Given the description of an element on the screen output the (x, y) to click on. 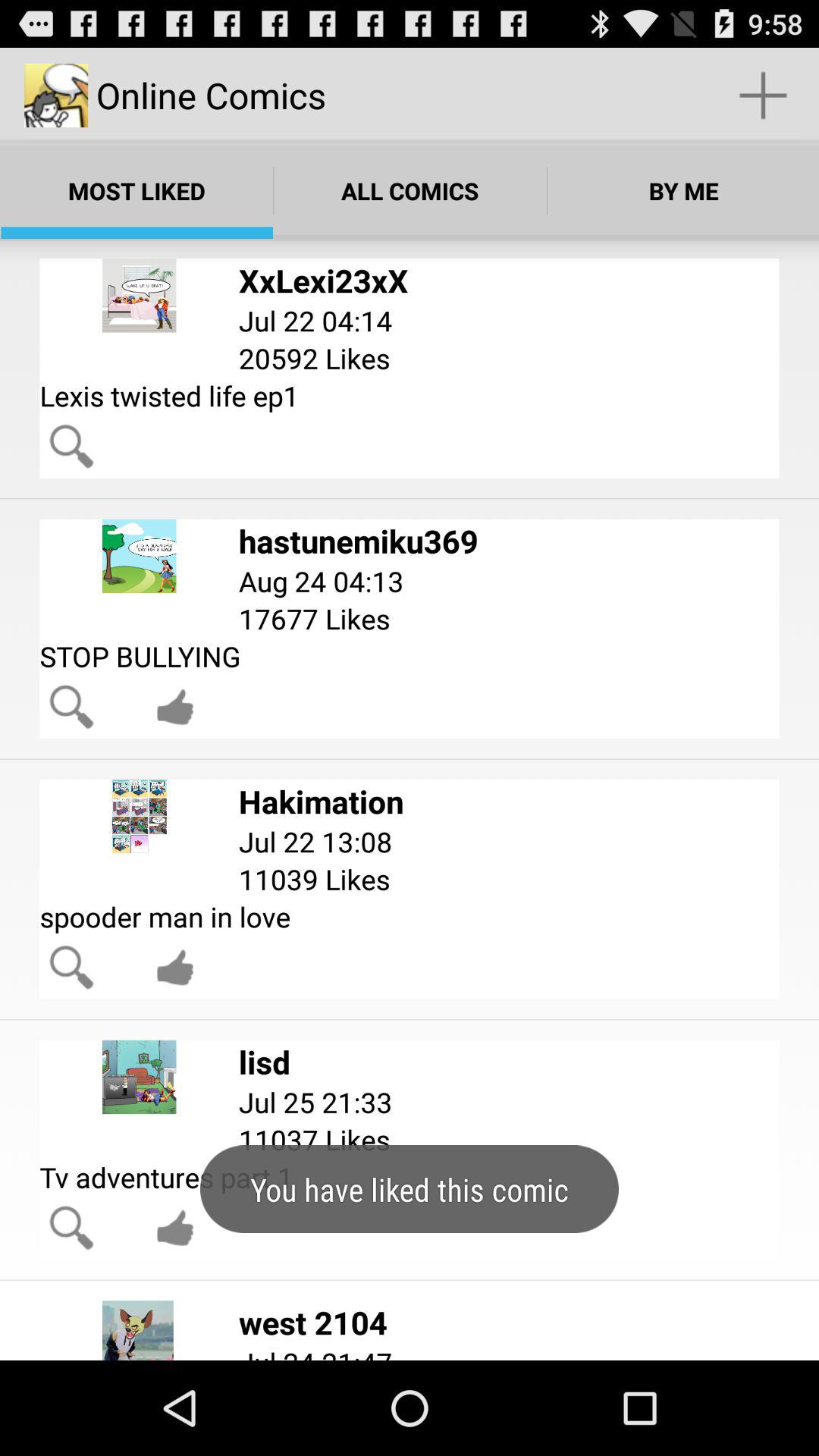
search (71, 706)
